Given the description of an element on the screen output the (x, y) to click on. 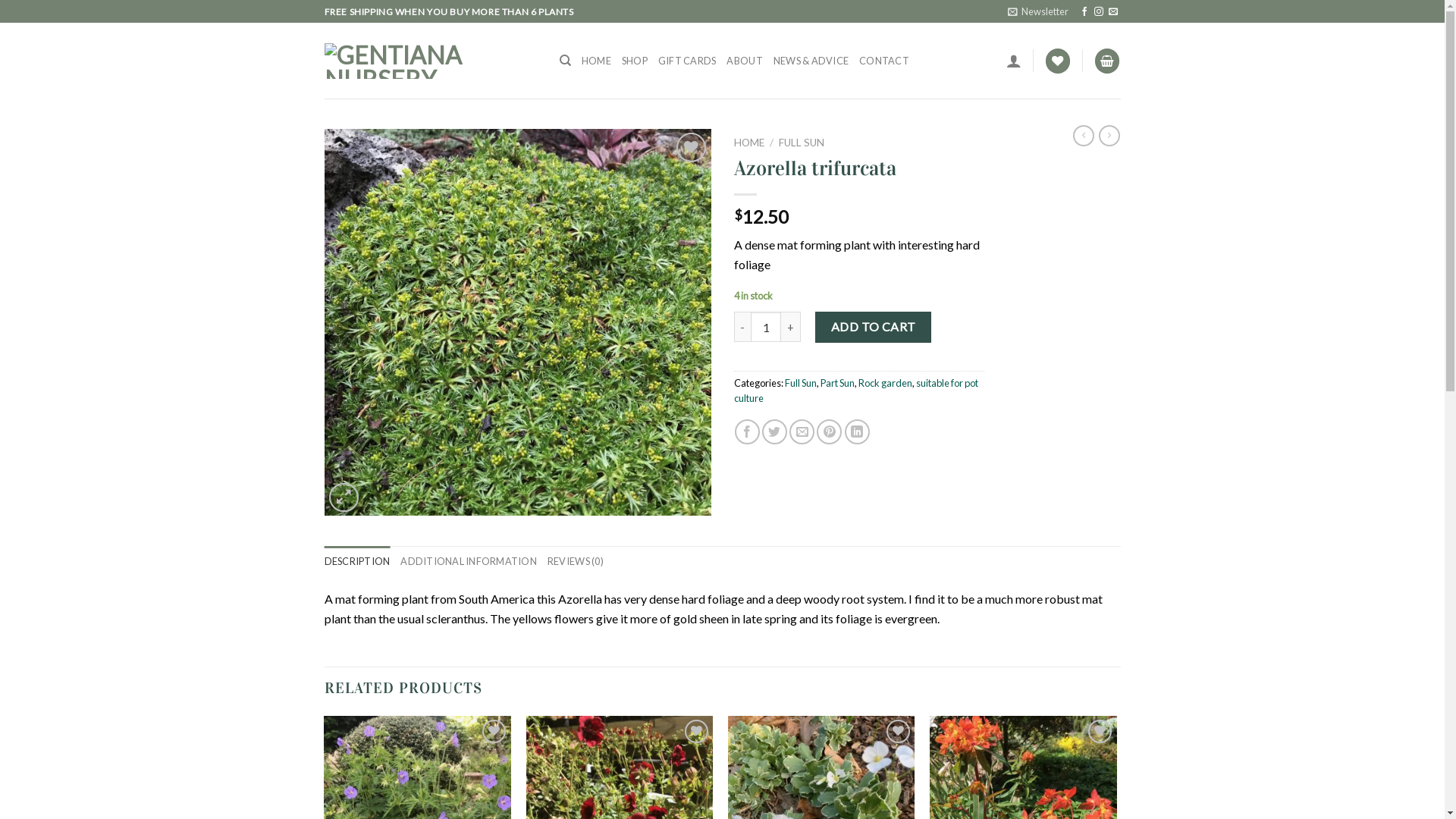
Full Sun Element type: text (799, 382)
suitable for pot culture Element type: text (856, 390)
Pin on Pinterest Element type: hover (828, 431)
Part Sun Element type: text (837, 382)
Gentiana Nursery - Gentiana Nursery Website Element type: hover (430, 61)
Share on Twitter Element type: hover (774, 431)
Zoom Element type: hover (343, 497)
HOME Element type: text (596, 60)
Follow on Instagram Element type: hover (1098, 11)
Send us an email Element type: hover (1112, 11)
Rock garden Element type: text (885, 382)
FULL SUN Element type: text (801, 142)
ADDITIONAL INFORMATION Element type: text (468, 561)
CONTACT Element type: text (884, 60)
DESCRIPTION Element type: text (357, 561)
GIFT CARDS Element type: text (687, 60)
Newsletter Element type: text (1037, 11)
IMG_4417 Element type: hover (517, 321)
Share on LinkedIn Element type: hover (856, 431)
HOME Element type: text (749, 142)
Email to a Friend Element type: hover (801, 431)
ABOUT Element type: text (744, 60)
Share on Facebook Element type: hover (746, 431)
REVIEWS (0) Element type: text (575, 561)
SHOP Element type: text (634, 60)
Cart Element type: hover (1107, 60)
Follow on Facebook Element type: hover (1083, 11)
NEWS & ADVICE Element type: text (810, 60)
ADD TO CART Element type: text (873, 326)
